Given the description of an element on the screen output the (x, y) to click on. 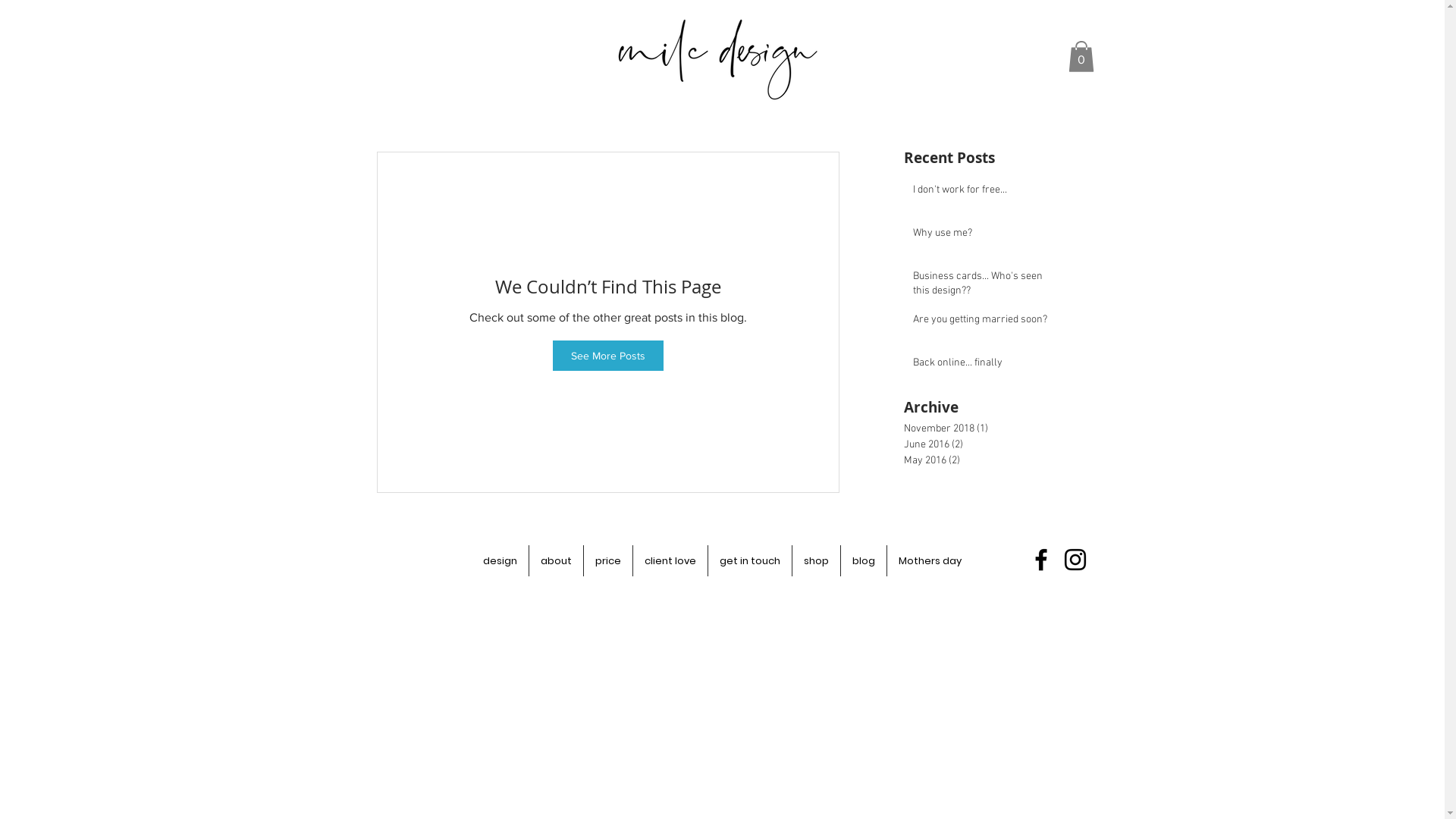
design Element type: text (499, 560)
November 2018 (1) Element type: text (983, 428)
client love Element type: text (670, 560)
Are you getting married soon? Element type: text (982, 322)
Business cards... Who's seen this design?? Element type: text (982, 286)
price Element type: text (607, 560)
get in touch Element type: text (749, 560)
Why use me? Element type: text (982, 236)
See More Posts Element type: text (607, 355)
June 2016 (2) Element type: text (983, 444)
blog Element type: text (863, 560)
shop Element type: text (816, 560)
Mothers day Element type: text (929, 560)
0 Element type: text (1080, 56)
I don't work for free... Element type: text (982, 192)
Back online... finally Element type: text (982, 365)
May 2016 (2) Element type: text (983, 460)
about Element type: text (556, 560)
